Given the description of an element on the screen output the (x, y) to click on. 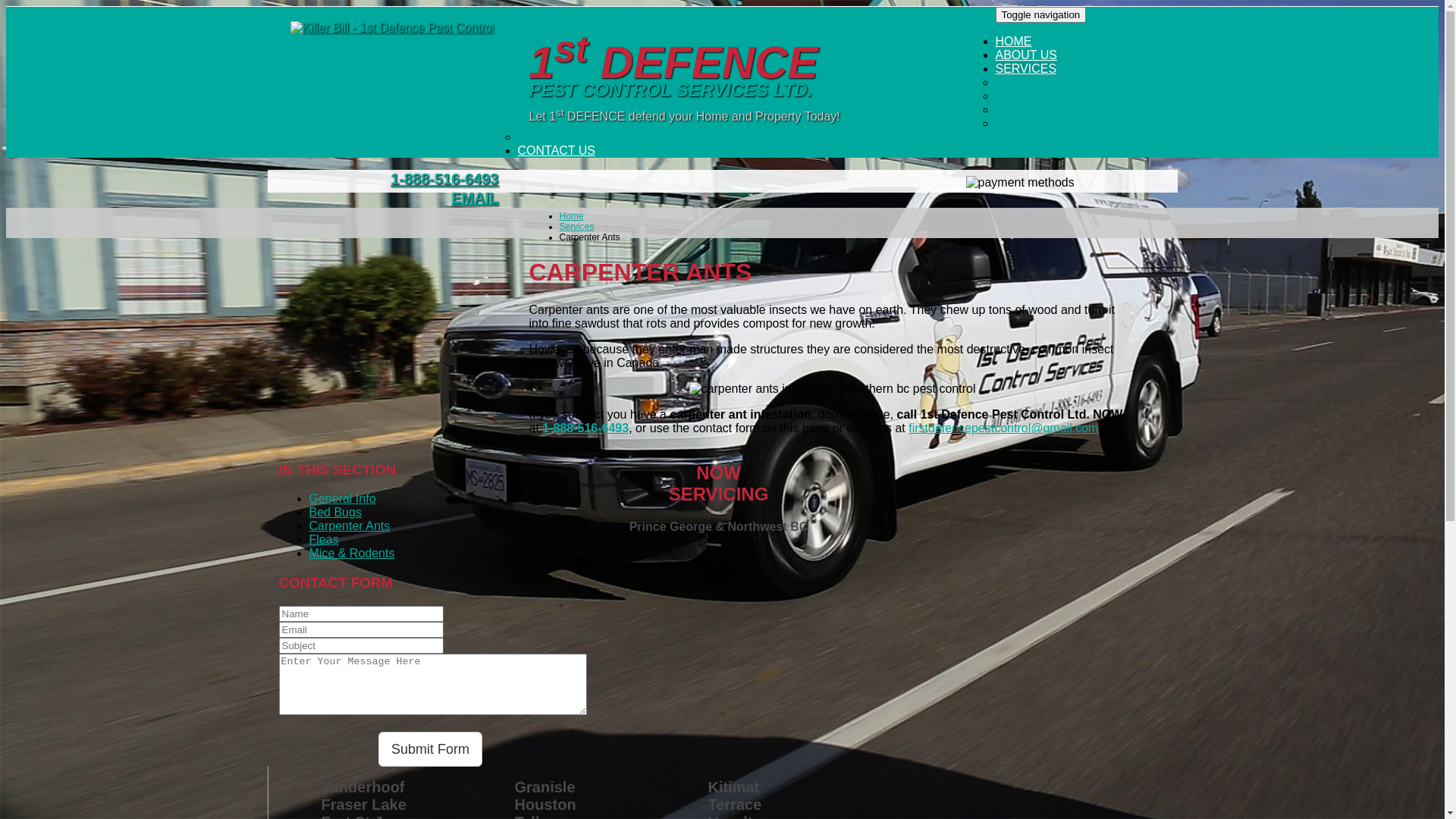
Mice & Rodents Element type: text (352, 552)
FLEAS Element type: text (1013, 122)
1-888-516-6493 Element type: text (585, 427)
Fleas Element type: text (323, 539)
1-888-516-6493 Element type: text (444, 178)
Carpenter Ants Element type: text (349, 525)
GENERAL INFO Element type: text (1039, 81)
Submit Form Element type: text (430, 748)
General Info Element type: text (342, 498)
Toggle navigation Element type: text (1039, 14)
Bed Bugs Element type: text (335, 511)
HOME Element type: text (1012, 40)
CARPENTER ANTS Element type: text (1049, 109)
CONTACT US Element type: text (556, 150)
SERVICES Element type: text (1025, 68)
BED BUGS Element type: text (1025, 95)
ABOUT US Element type: text (1025, 54)
MICE & RODENTS Element type: text (569, 136)
Home Element type: text (571, 215)
EMAIL Element type: text (474, 197)
firstdefencepestcontrol@gmail.com Element type: text (1003, 427)
Services Element type: text (576, 226)
